Given the description of an element on the screen output the (x, y) to click on. 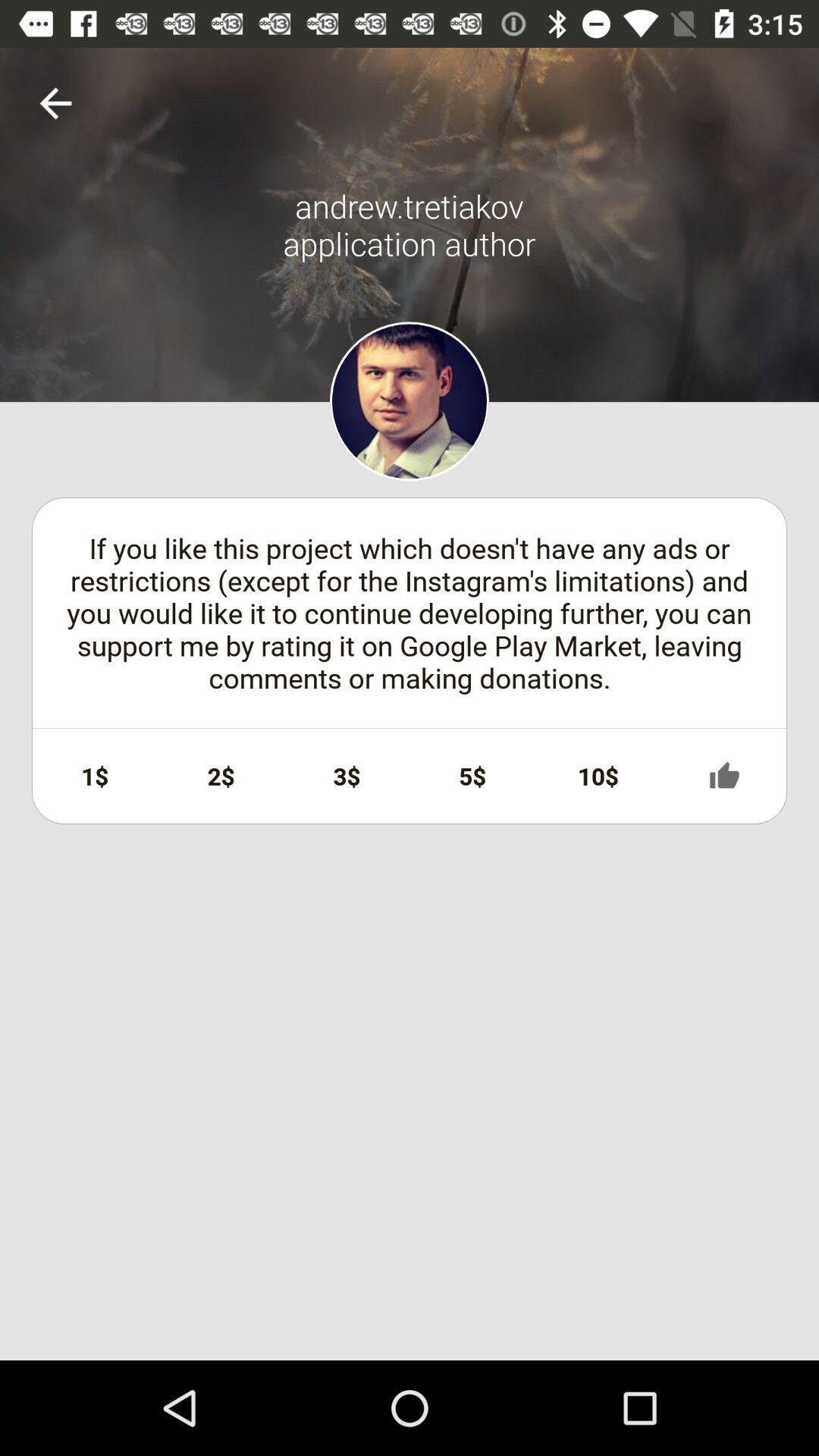
jump to 1$ item (94, 776)
